Given the description of an element on the screen output the (x, y) to click on. 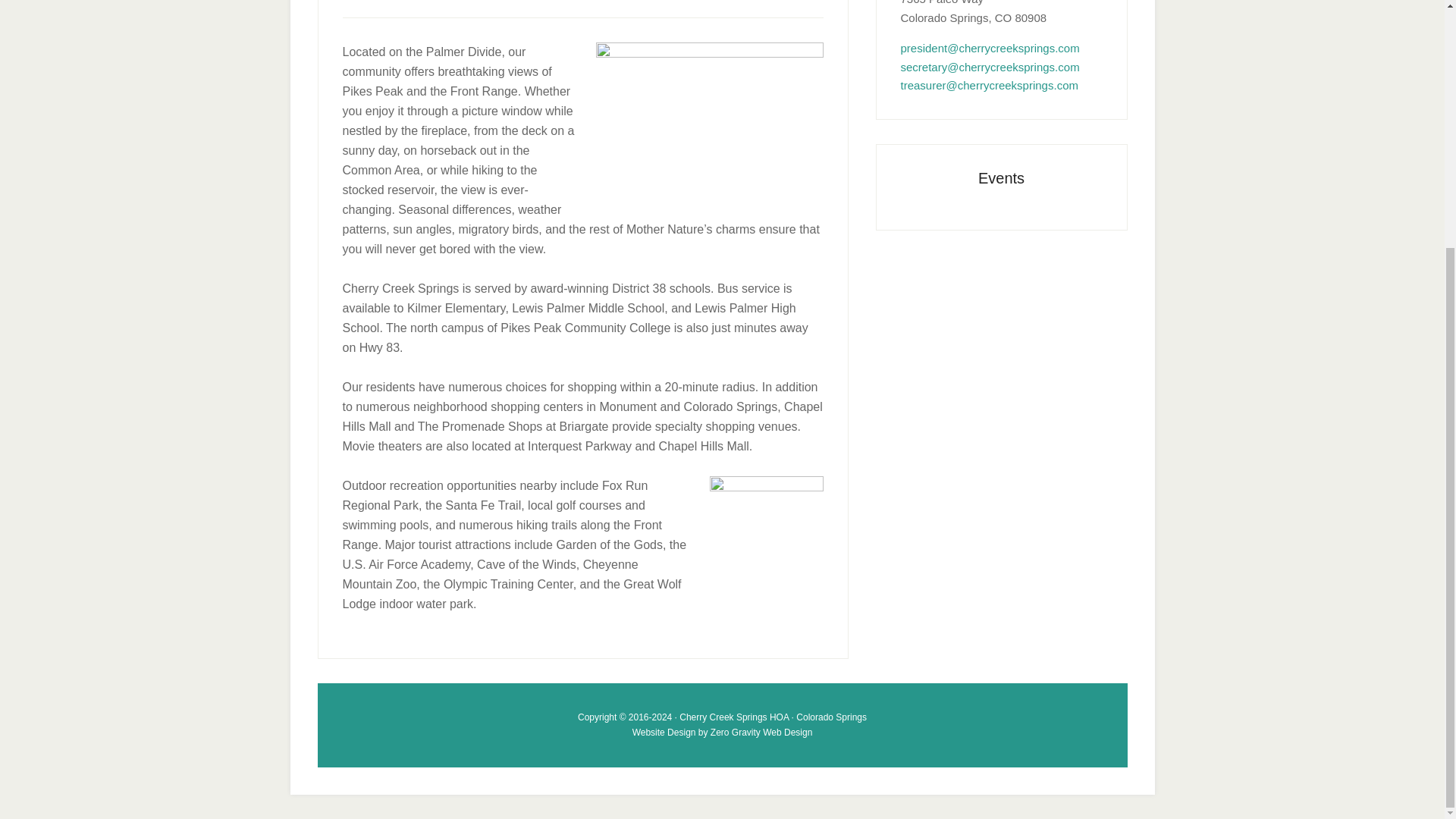
Website Design (663, 731)
Zero Gravity Web Design (761, 731)
